Given the description of an element on the screen output the (x, y) to click on. 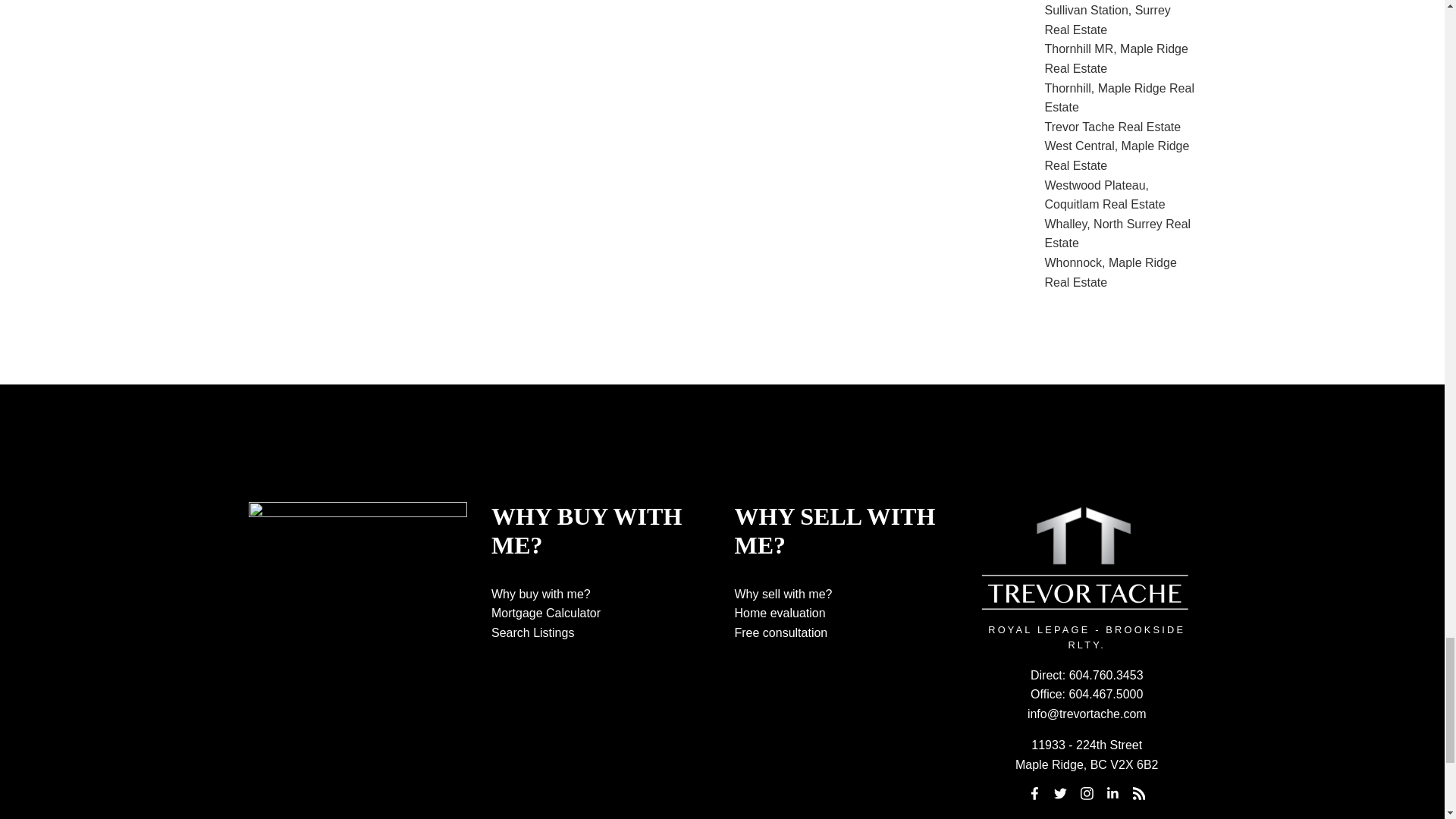
instagram (1086, 793)
Blog (1139, 793)
Facebook (1034, 793)
Twitter (1060, 793)
linkedin (1113, 793)
